Given the description of an element on the screen output the (x, y) to click on. 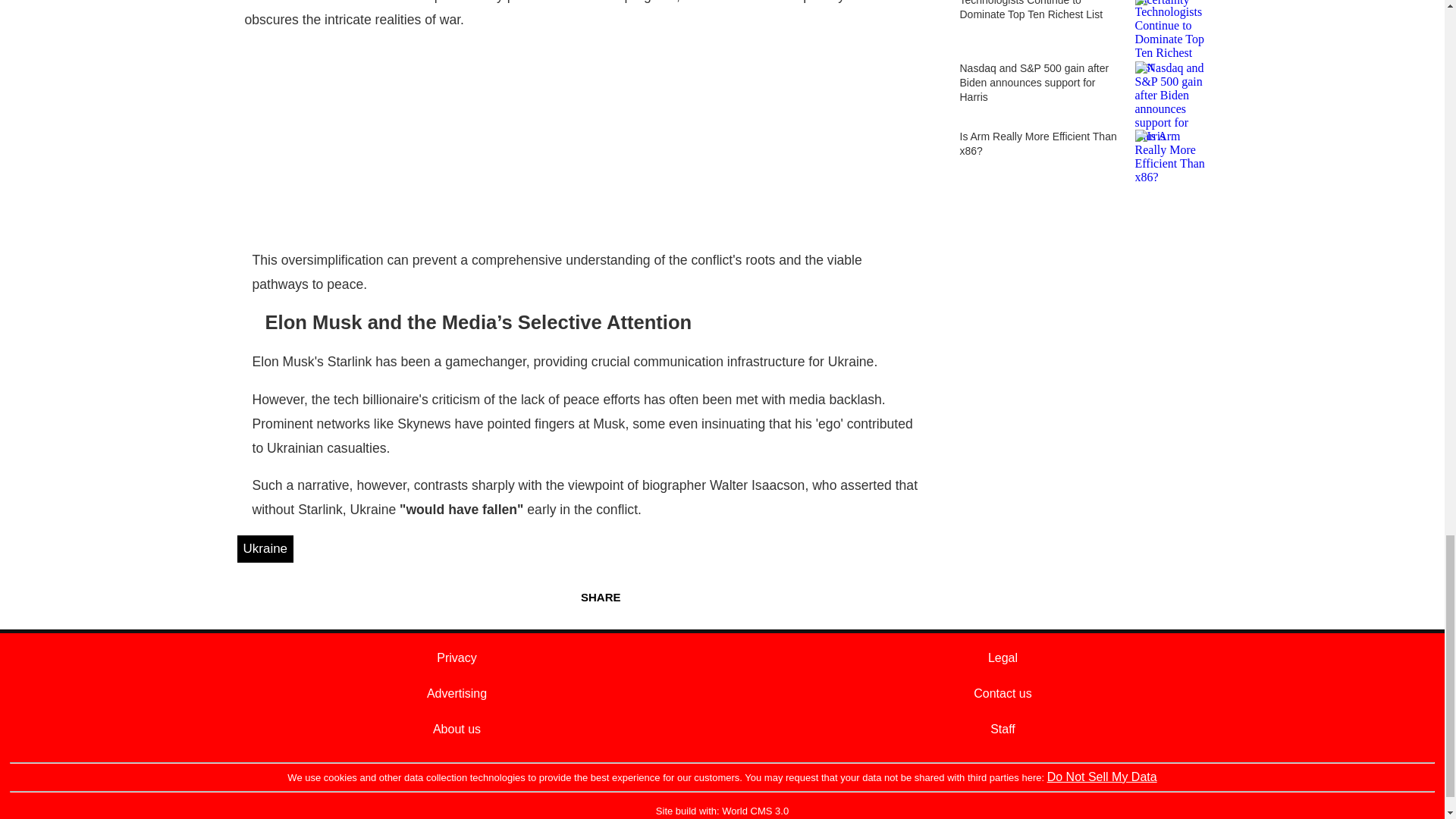
Ukraine (264, 548)
